Given the description of an element on the screen output the (x, y) to click on. 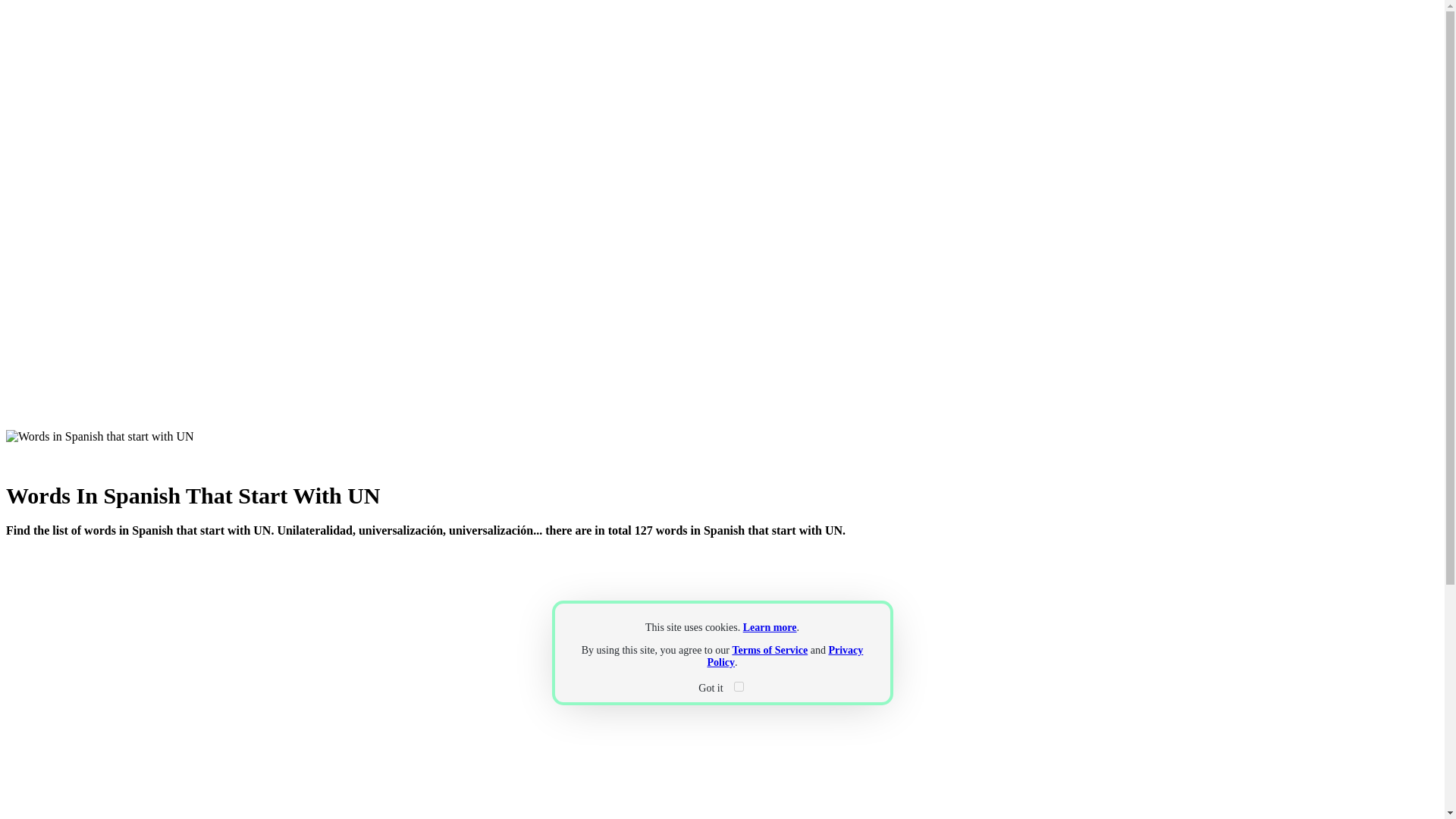
Learn more (769, 627)
Privacy Policy (784, 656)
Learn more (769, 627)
Terms of Service (770, 650)
Privacy Policy (784, 656)
Terms of Service (770, 650)
on (738, 686)
